Given the description of an element on the screen output the (x, y) to click on. 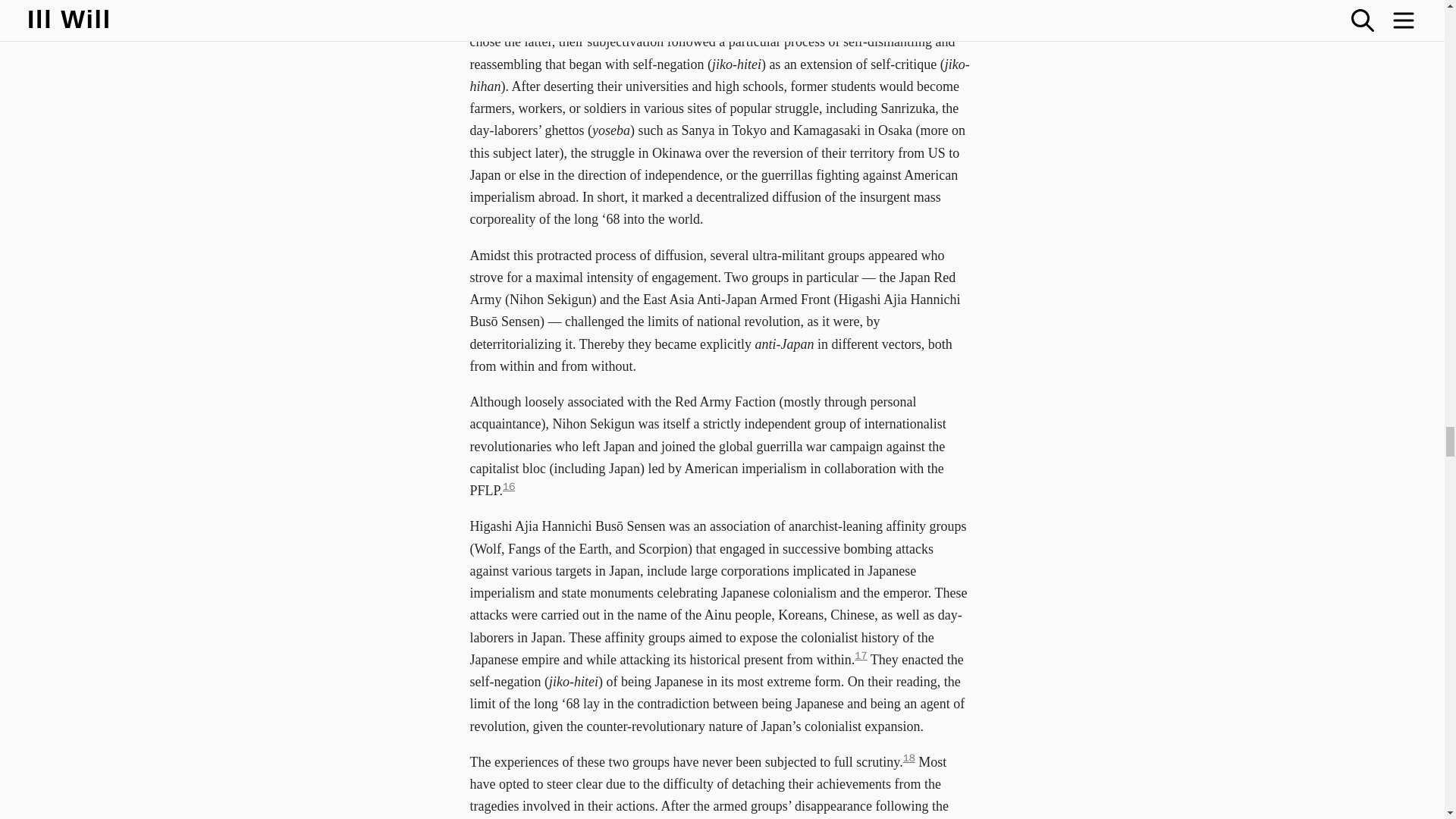
17 (860, 655)
18 (908, 757)
16 (508, 486)
